Given the description of an element on the screen output the (x, y) to click on. 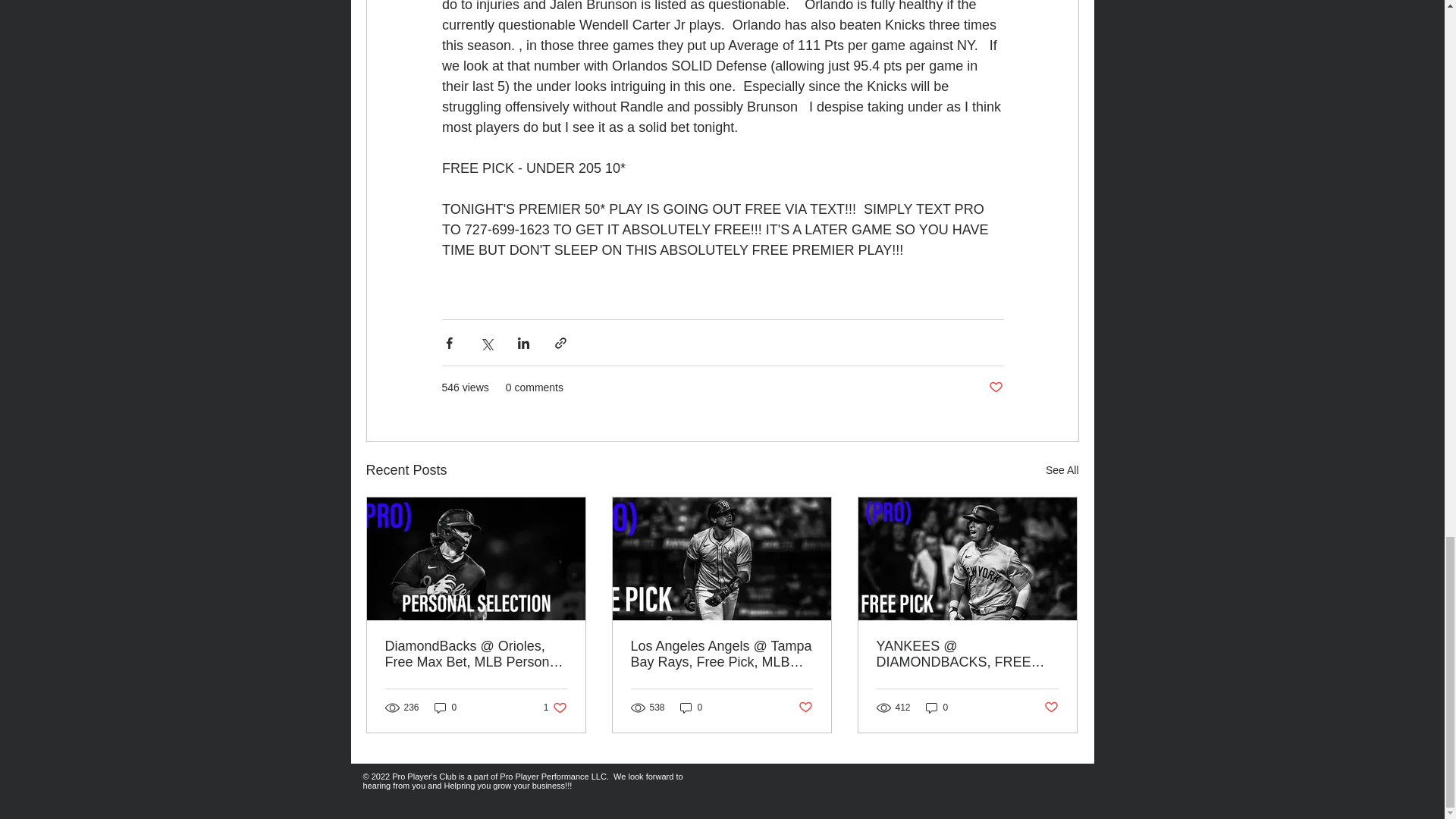
0 (691, 707)
Post not marked as liked (804, 707)
Post not marked as liked (1050, 707)
0 (555, 707)
See All (445, 707)
Post not marked as liked (1061, 470)
0 (995, 387)
